Given the description of an element on the screen output the (x, y) to click on. 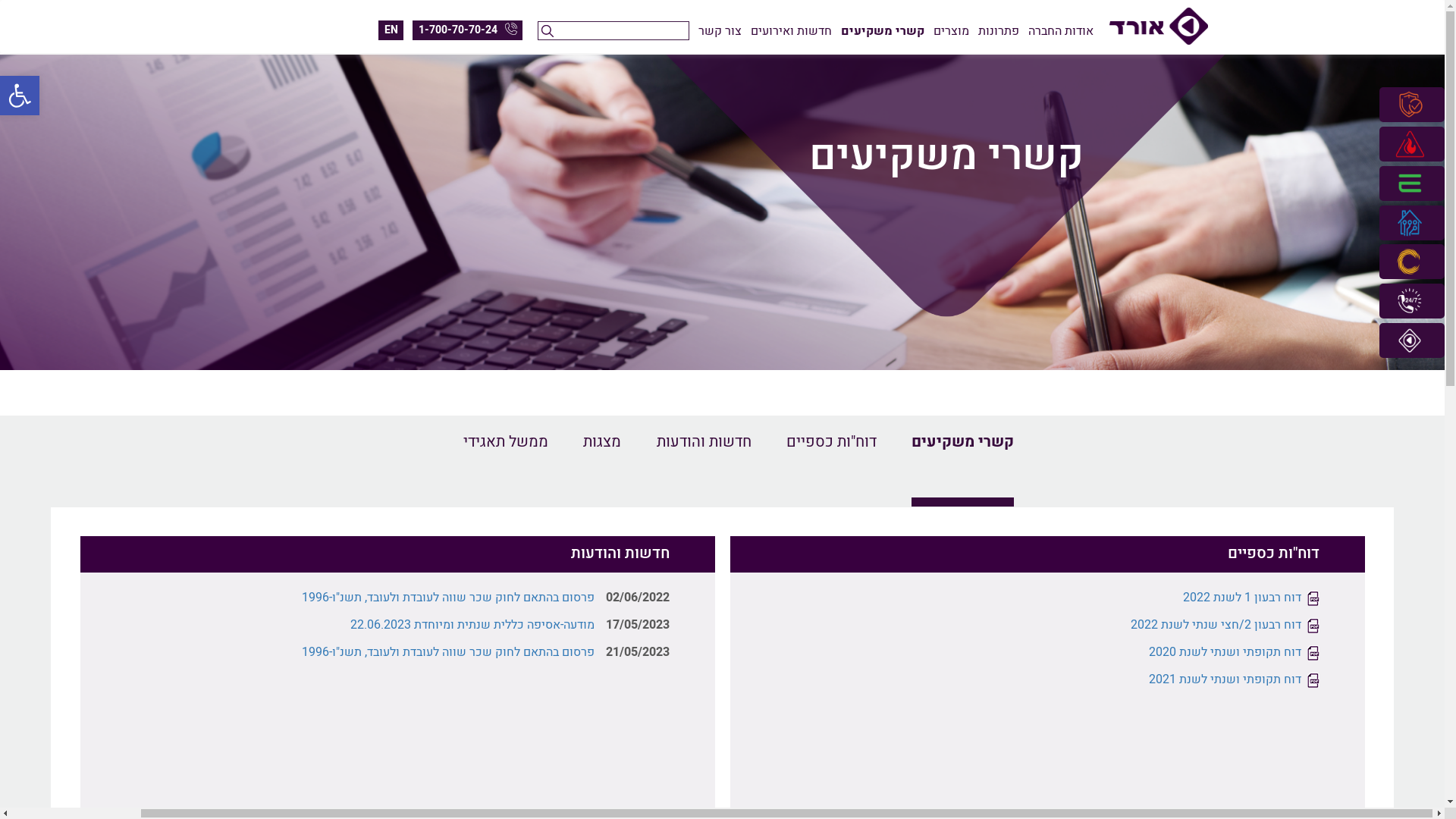
1-700-70-70-24 Element type: text (467, 30)
EN Element type: text (389, 30)
